Given the description of an element on the screen output the (x, y) to click on. 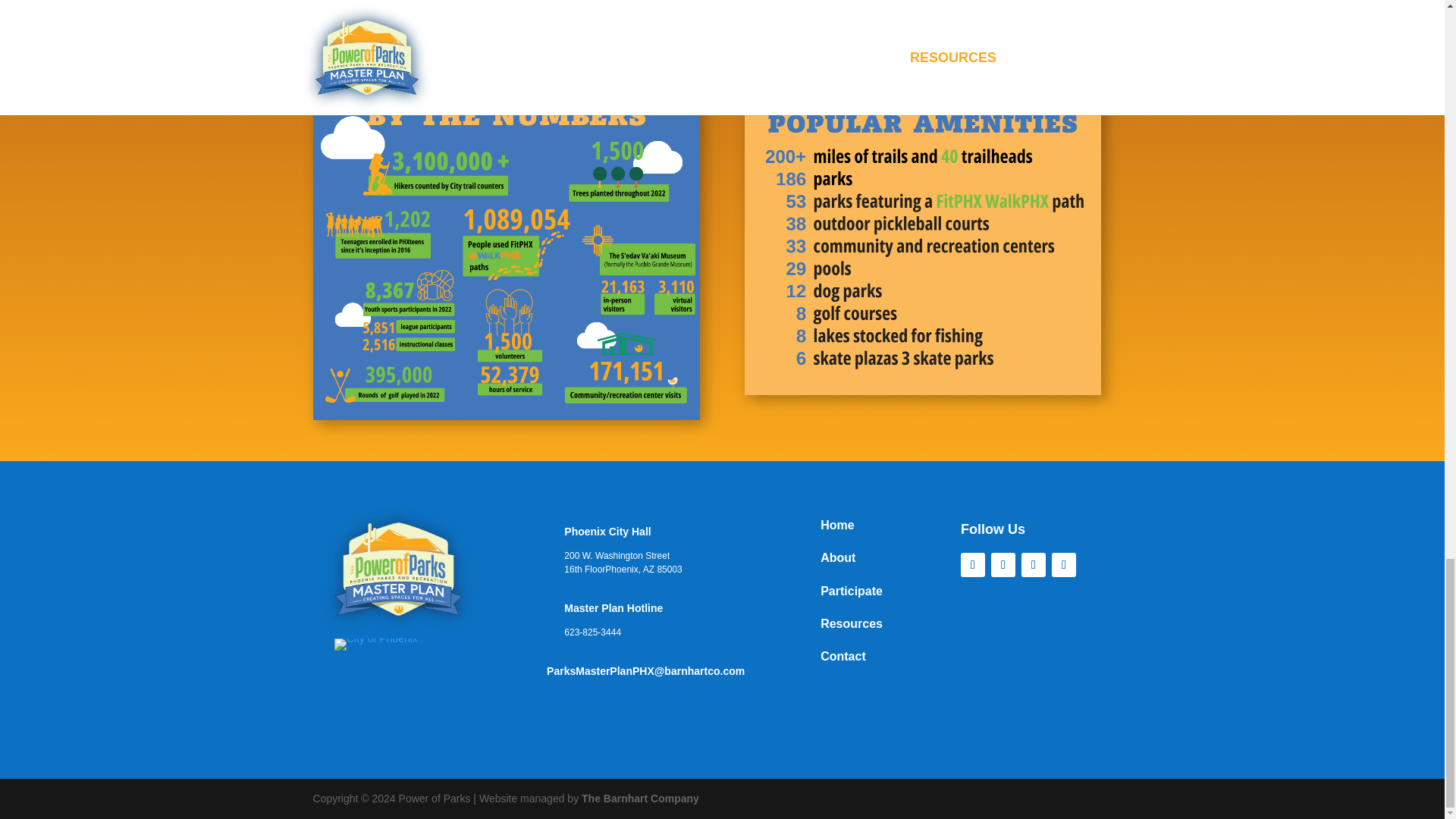
Follow on Instagram (1063, 564)
Home (837, 528)
About (838, 560)
Follow on Facebook (972, 564)
Resources (851, 626)
Contact (843, 659)
Participate (851, 593)
The Barnhart Company (639, 798)
Follow on Youtube (1033, 564)
Follow on X (1002, 564)
